Given the description of an element on the screen output the (x, y) to click on. 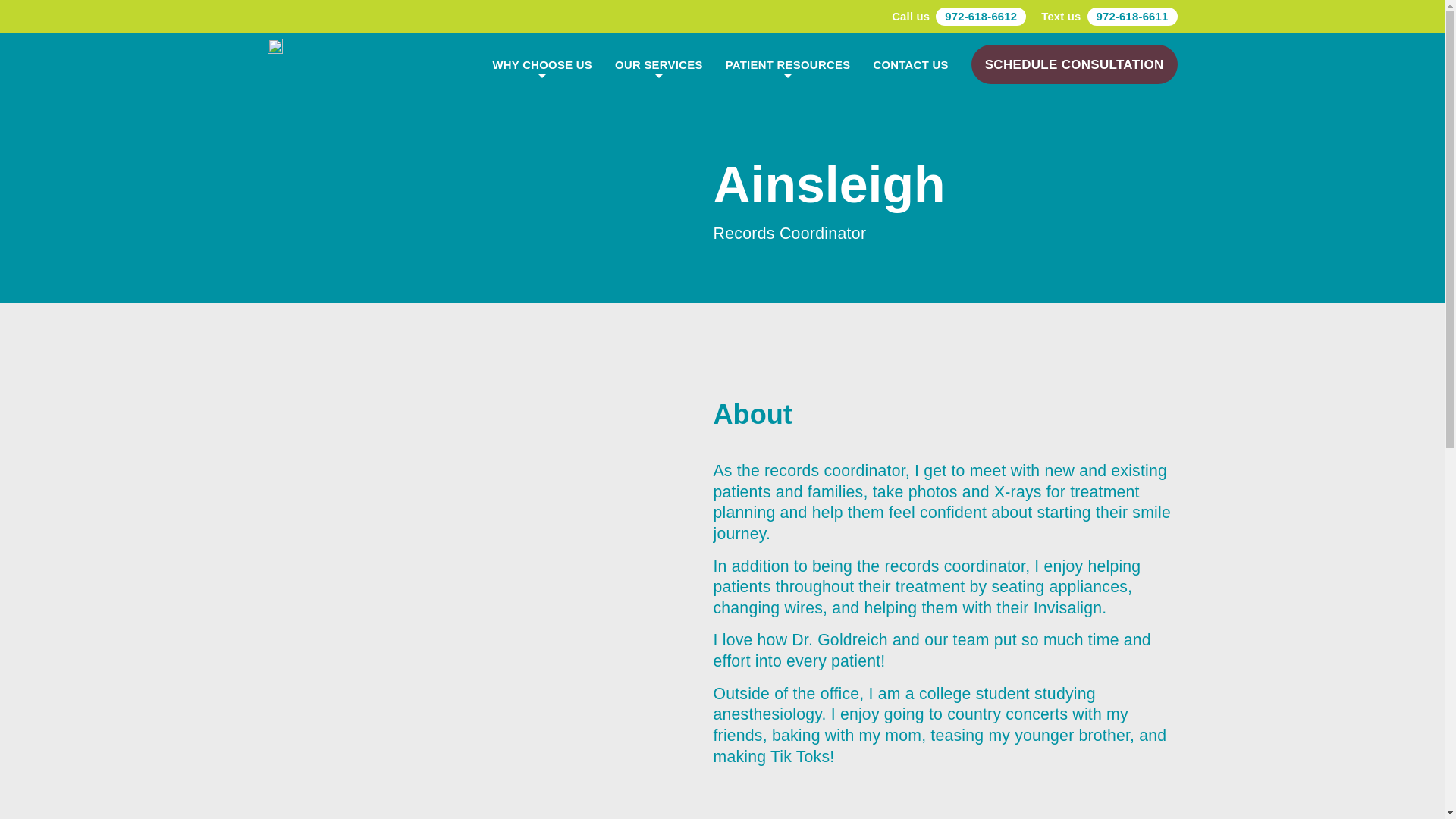
Return to Homepage (274, 47)
Goldreich Orthodontics (274, 47)
WHY CHOOSE US (542, 64)
OUR SERVICES (658, 64)
972-618-6611 (1132, 16)
972-618-6612 (981, 16)
PATIENT RESOURCES (787, 64)
SCHEDULE CONSULTATION (1074, 64)
CONTACT US (909, 64)
